Given the description of an element on the screen output the (x, y) to click on. 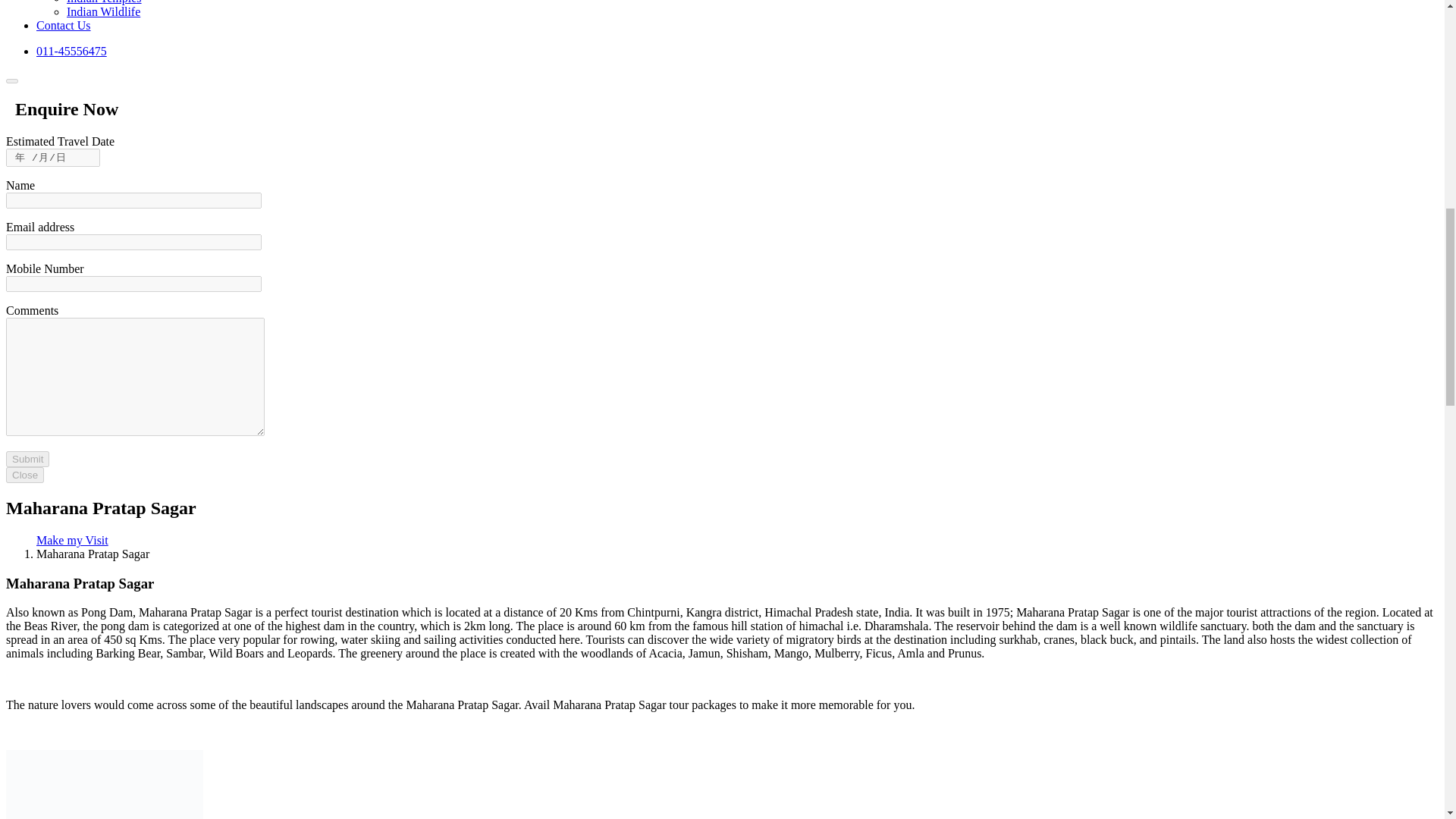
Submit (27, 458)
Go to Make my Visit. (71, 540)
